Given the description of an element on the screen output the (x, y) to click on. 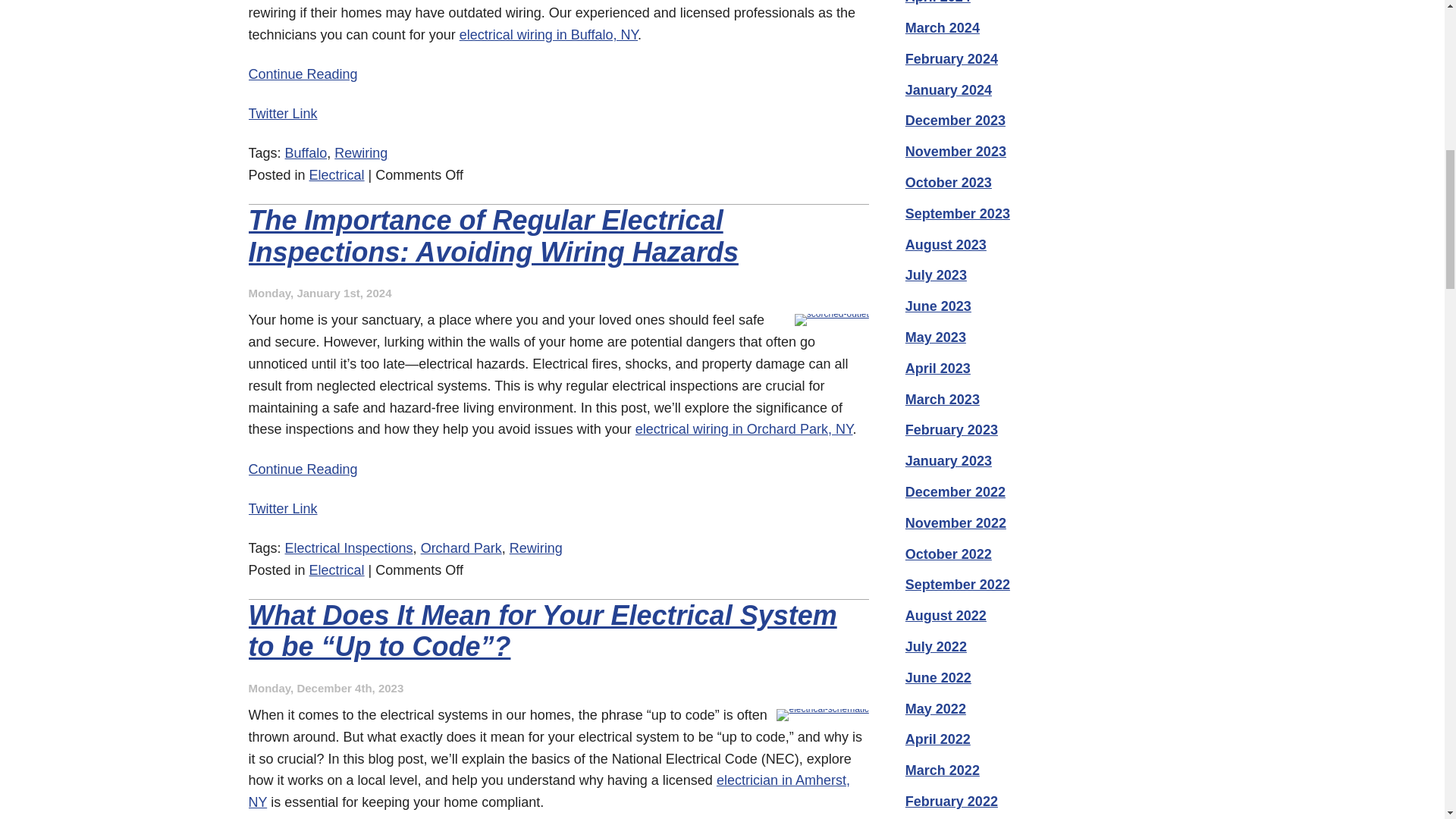
Permanent Link to Older Wiring in Homes: Aluminum Wiring (303, 73)
